Given the description of an element on the screen output the (x, y) to click on. 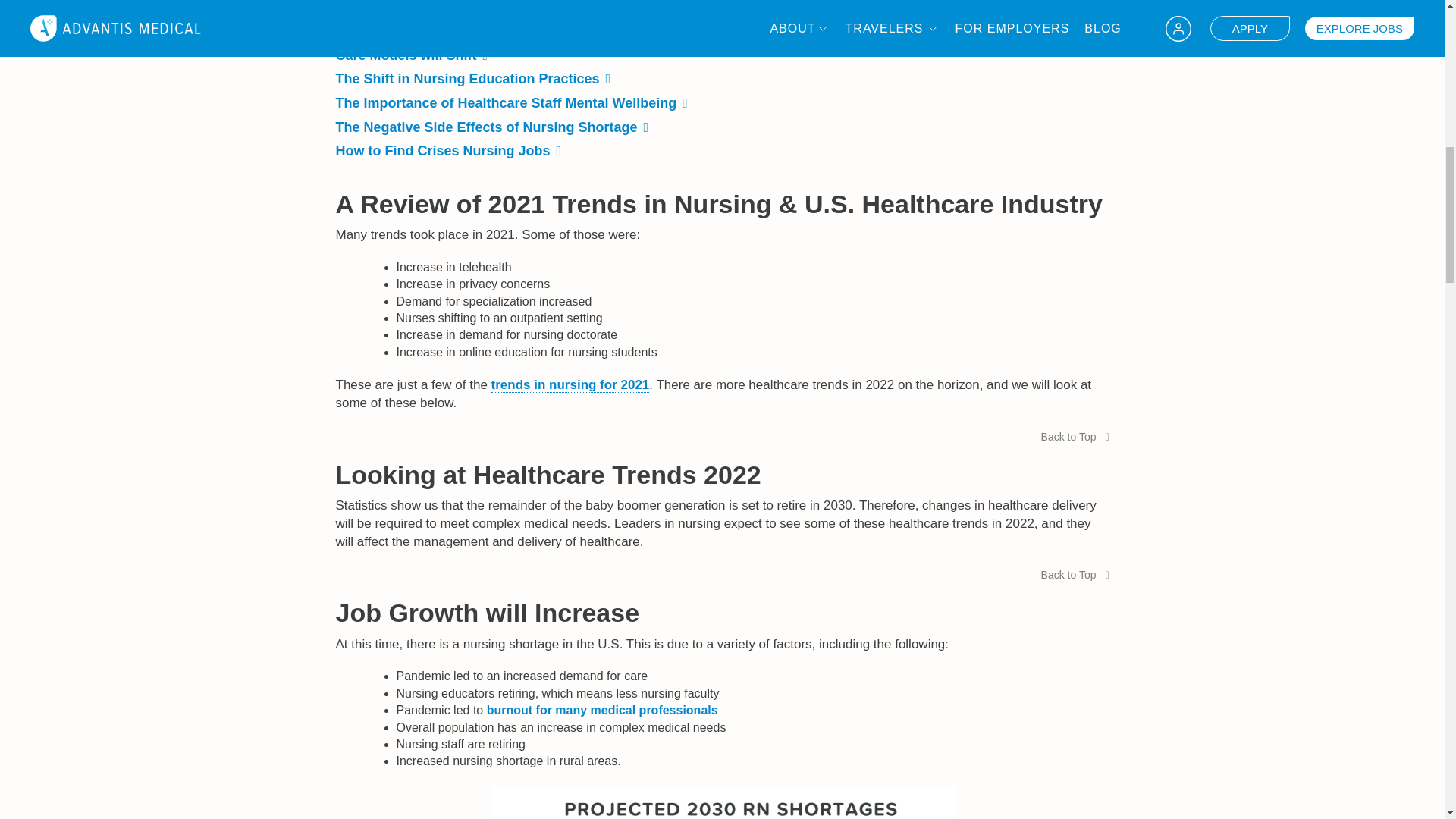
trends in nursing for 2021 (570, 385)
burnout for many medical professionals (601, 710)
